Given the description of an element on the screen output the (x, y) to click on. 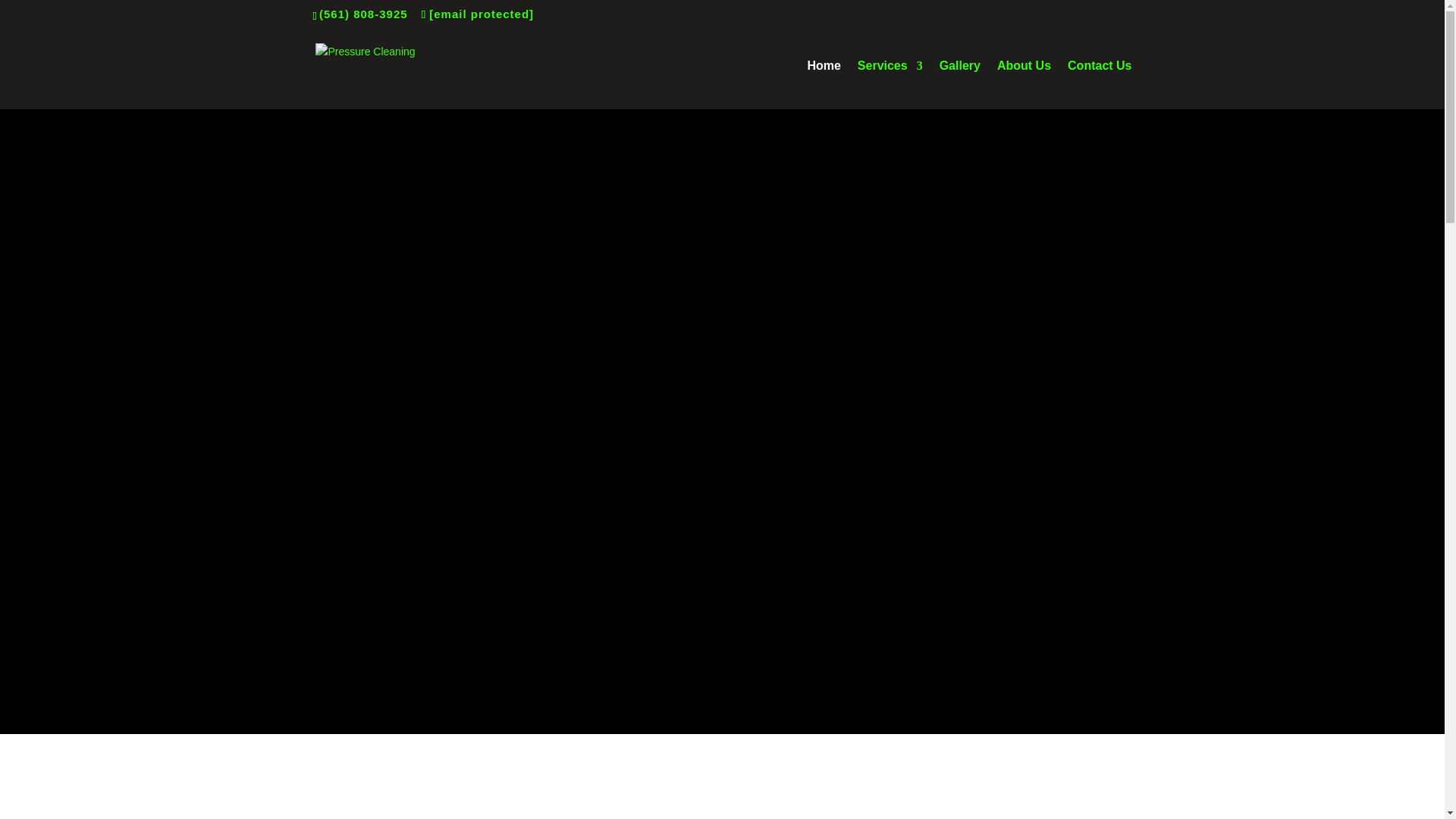
Services (890, 84)
Contact Us (1099, 84)
About Us (1024, 84)
